Given the description of an element on the screen output the (x, y) to click on. 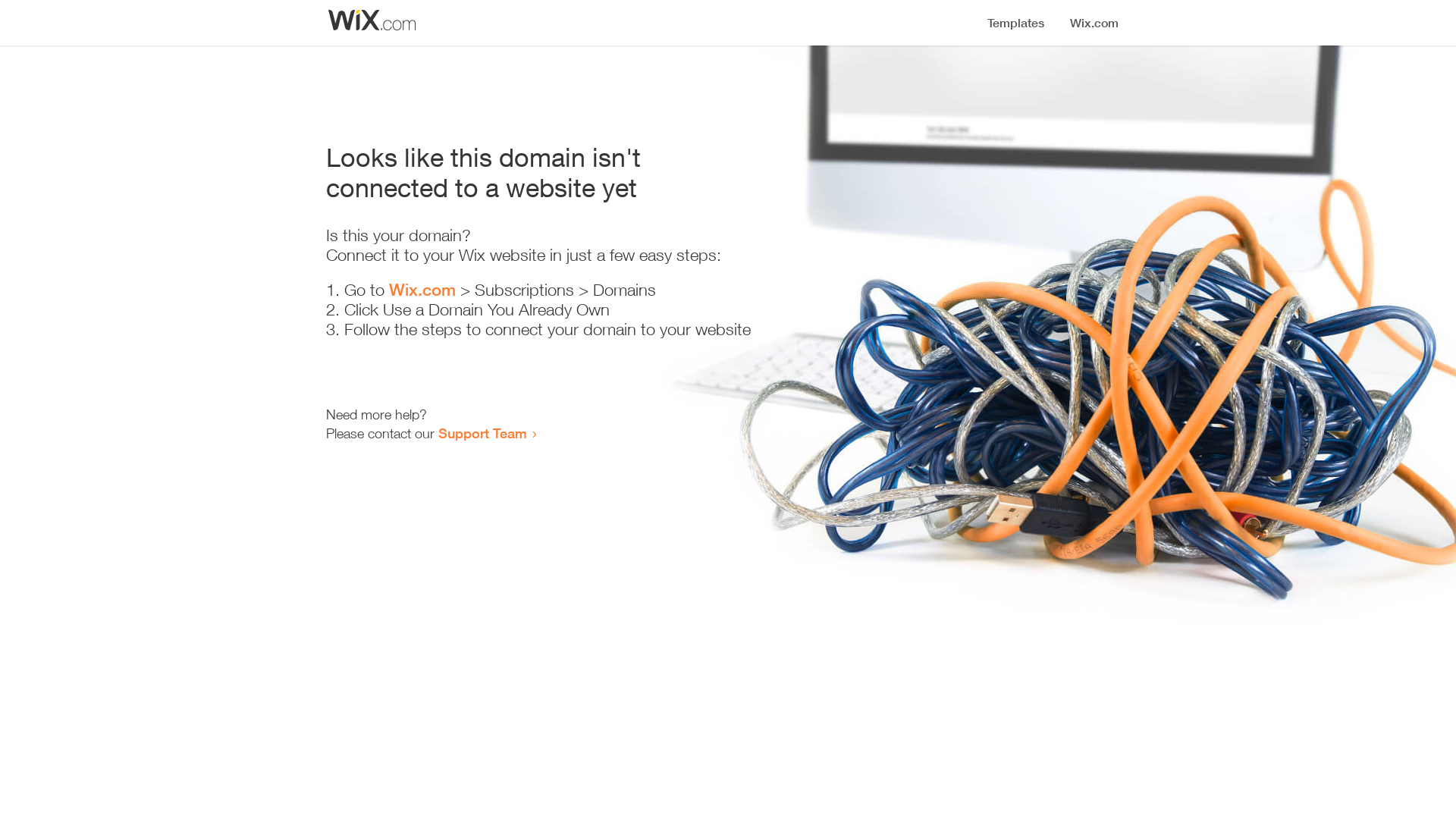
Support Team Element type: text (482, 432)
Wix.com Element type: text (422, 289)
